Given the description of an element on the screen output the (x, y) to click on. 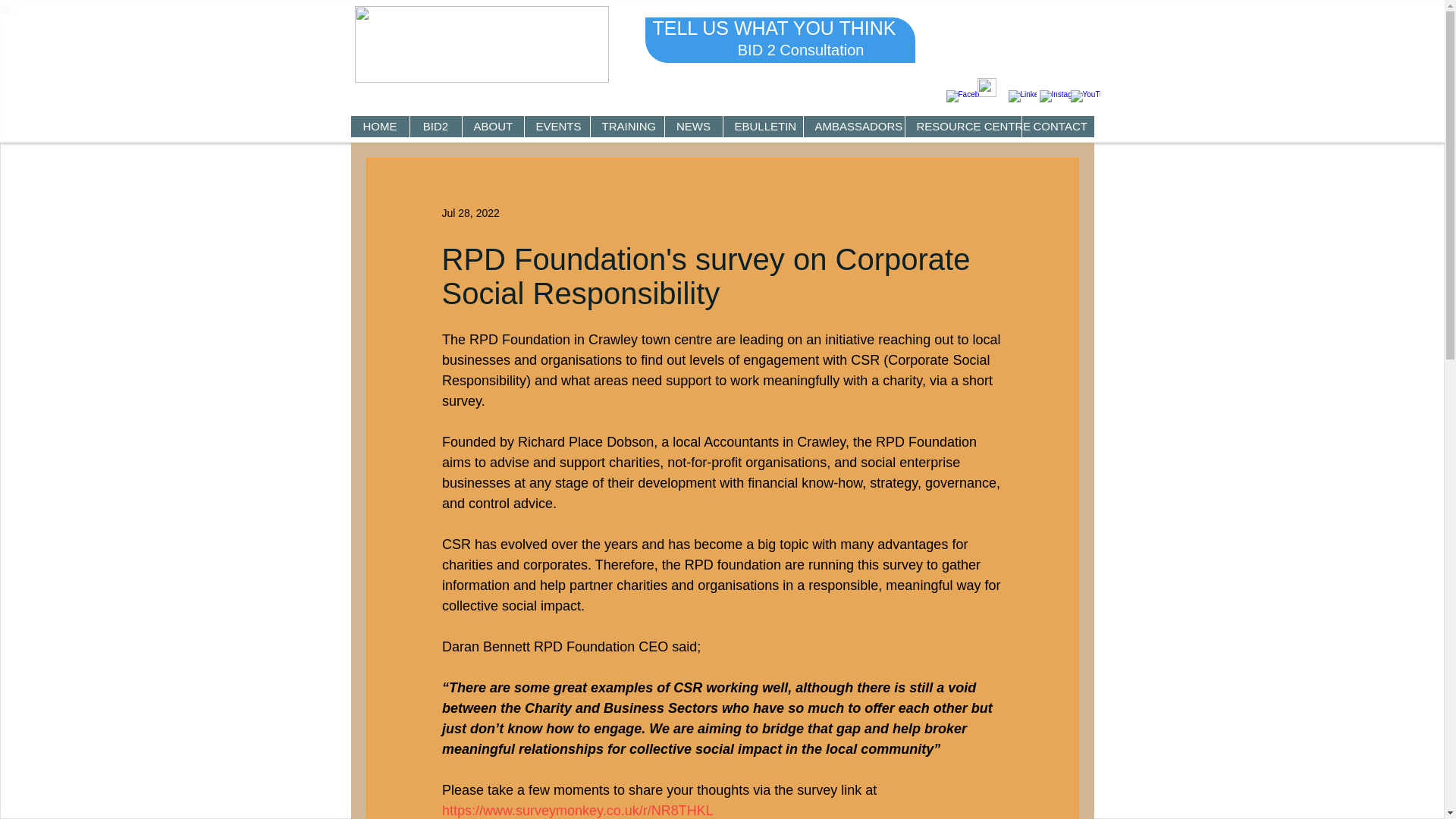
EVENTS (555, 126)
HOME (379, 126)
RESOURCE CENTRE (962, 126)
TELL US WHAT YOU THINK (773, 27)
ABOUT (491, 126)
EBULLETIN (762, 126)
BID 2 Consultation (801, 49)
BID2 (435, 126)
NEWS (692, 126)
CONTACT (1056, 126)
